Given the description of an element on the screen output the (x, y) to click on. 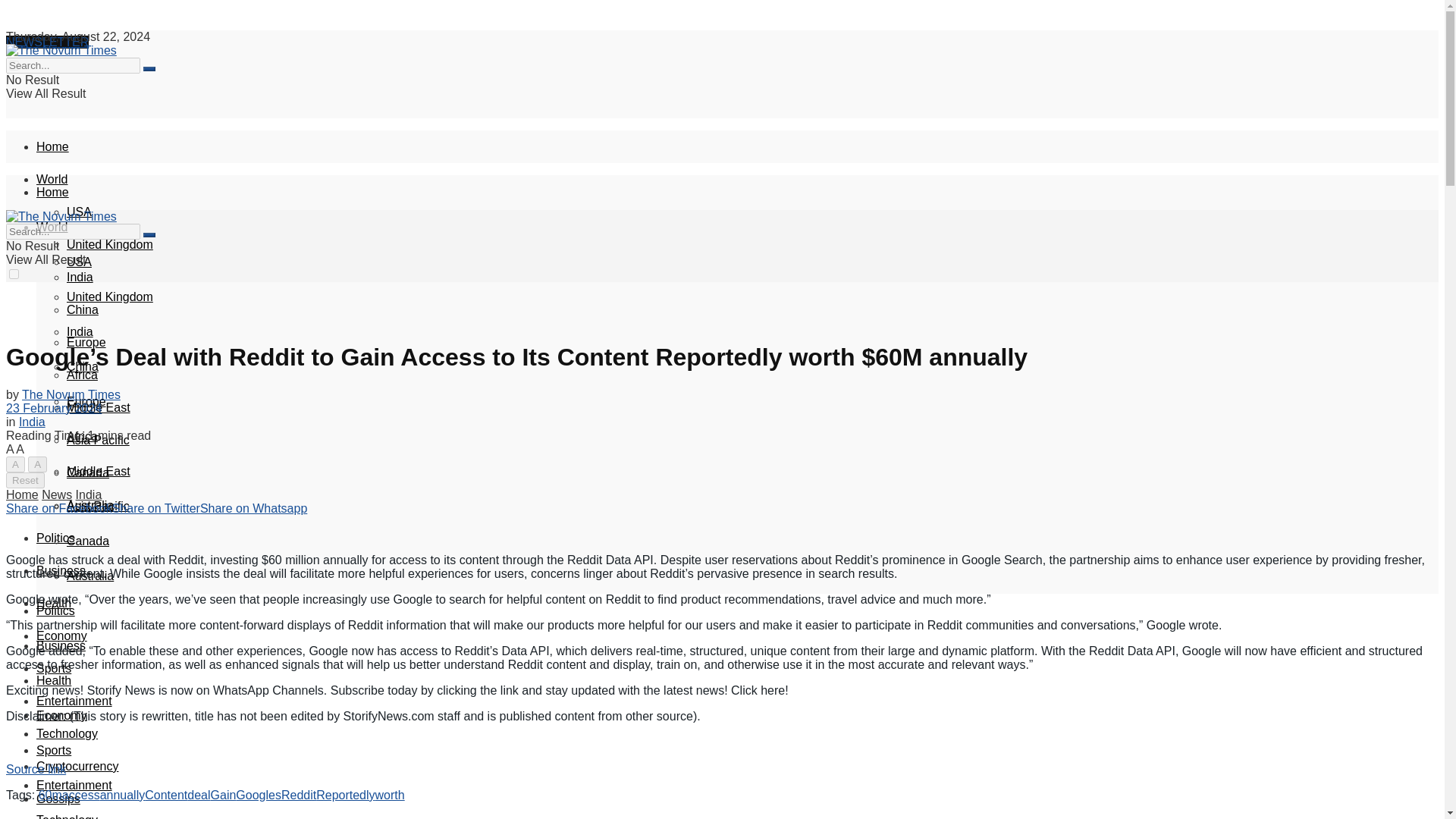
Canada (87, 472)
China (82, 309)
Africa (81, 374)
Business (60, 570)
Politics (55, 537)
Asia Pacific (97, 440)
United Kingdom (109, 296)
Health (53, 603)
on (13, 274)
Europe (86, 341)
